Given the description of an element on the screen output the (x, y) to click on. 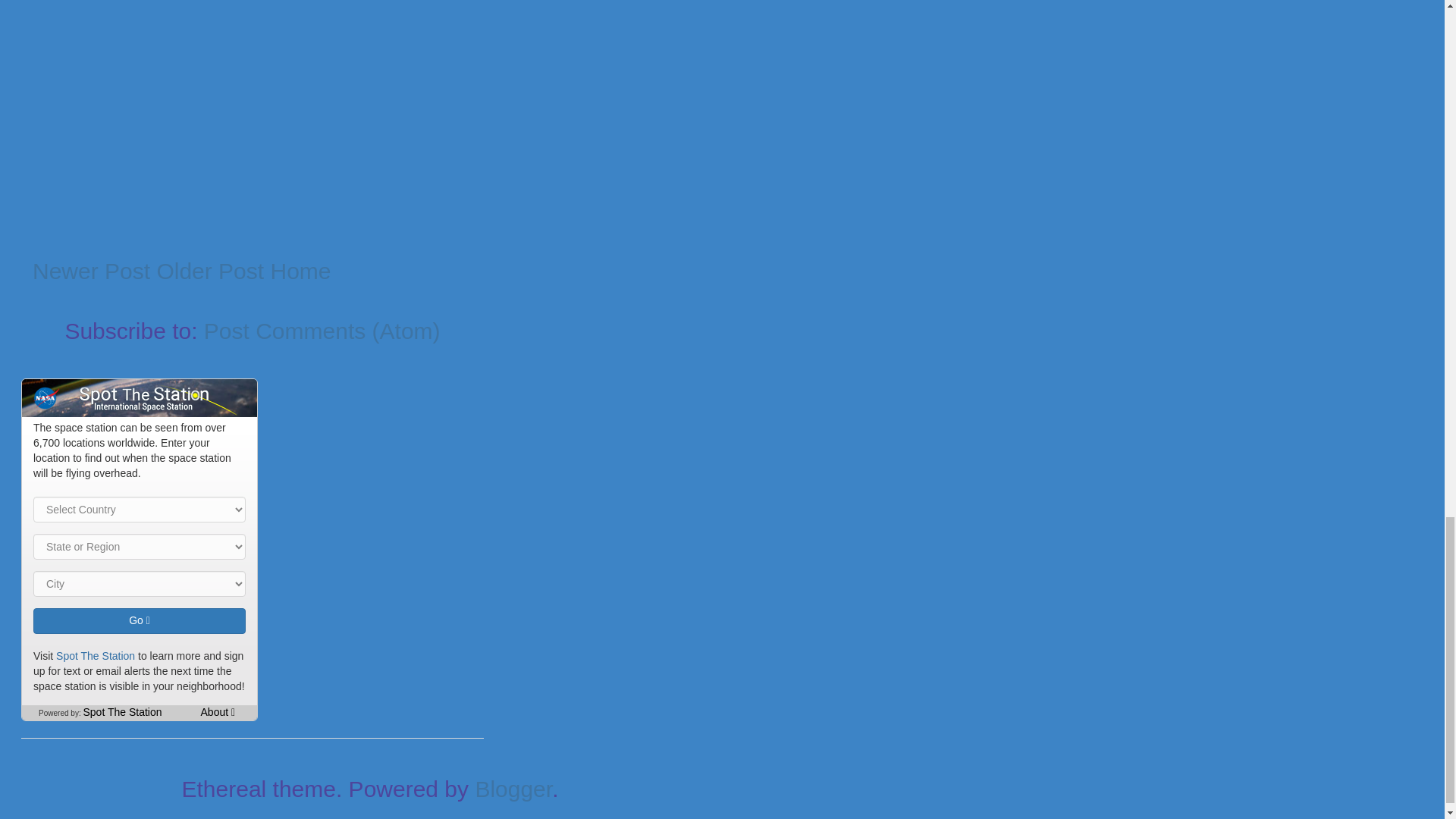
Blogger (512, 788)
Newer Post (90, 270)
Home (299, 270)
Older Post (209, 270)
Older Post (209, 270)
Newer Post (90, 270)
